Given the description of an element on the screen output the (x, y) to click on. 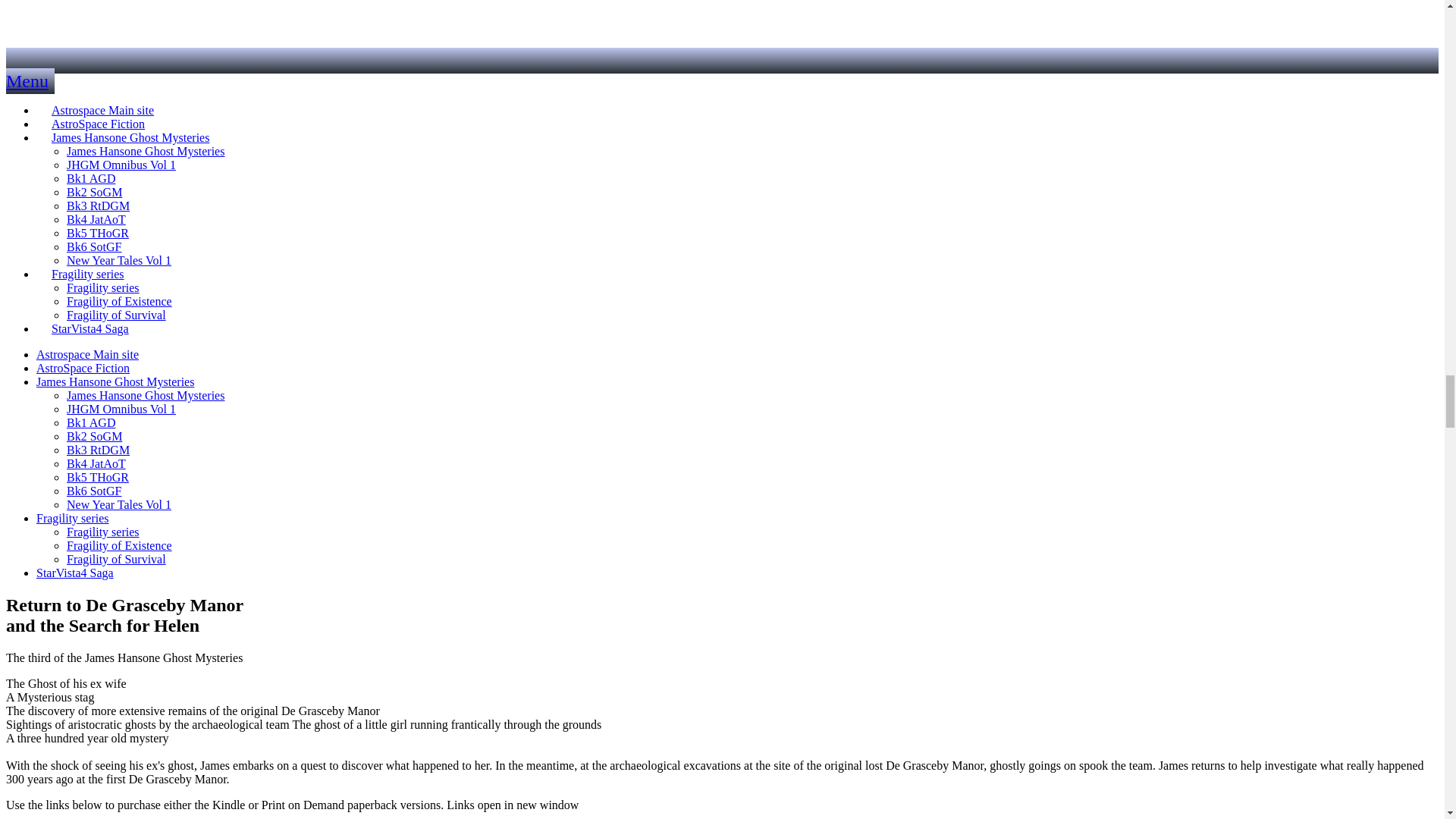
AstroSpace Fiction (82, 367)
StarVista4 Saga (90, 328)
Bk3 RtDGM (97, 449)
New Year Tales Vol 1 (118, 259)
James Hansone Ghost Mysteries (130, 137)
Fragility series (72, 517)
Bk5 THoGR (97, 477)
JHGM Omnibus Vol 1 (121, 408)
Fragility of Existence (118, 545)
New Year Tales Vol 1 (118, 504)
